Given the description of an element on the screen output the (x, y) to click on. 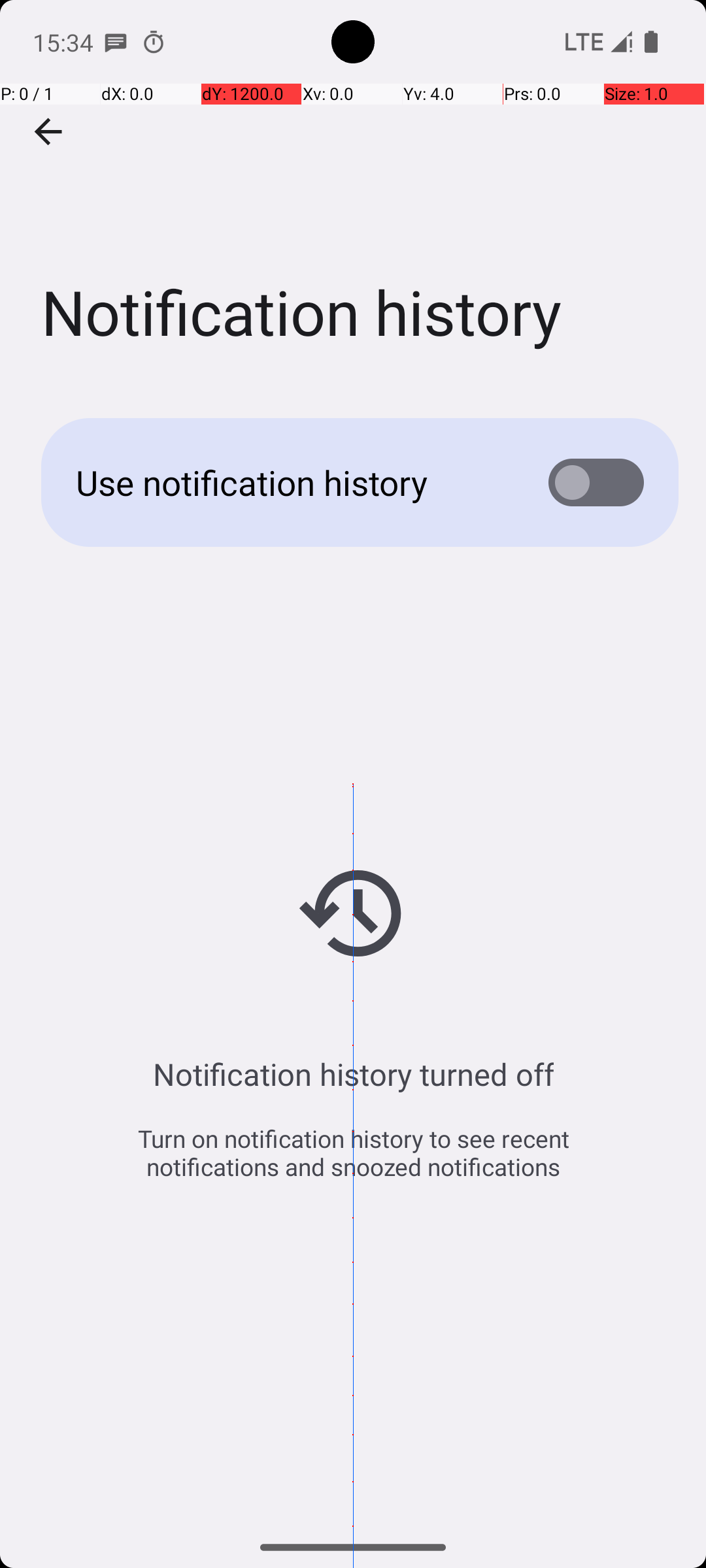
Notification history turned off Element type: android.widget.TextView (352, 1073)
Turn on notification history to see recent notifications and snoozed notifications Element type: android.widget.TextView (352, 1152)
Use notification history Element type: android.widget.TextView (291, 482)
